Given the description of an element on the screen output the (x, y) to click on. 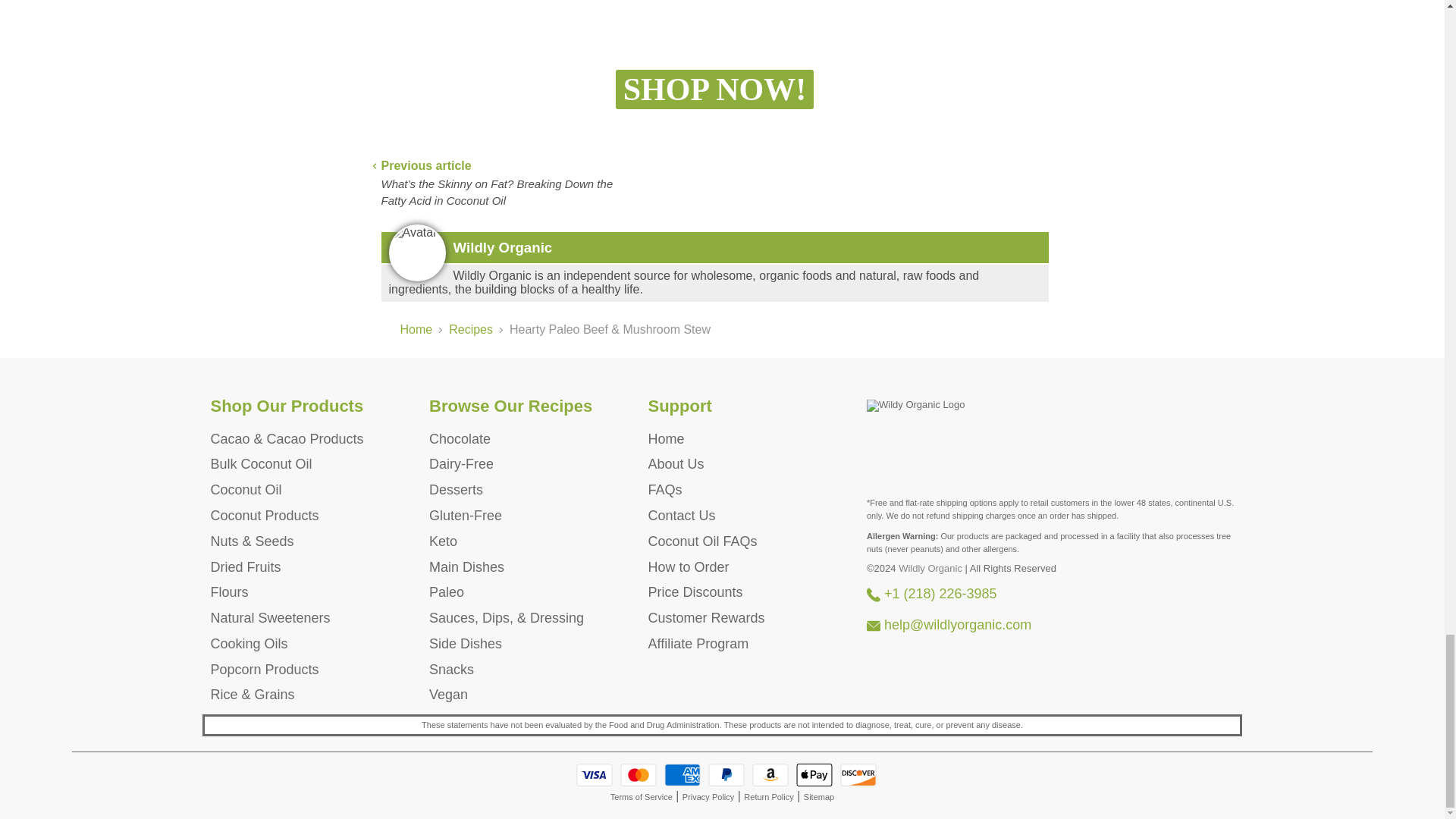
American Express (681, 774)
Mastercard (638, 774)
Visa (594, 774)
